Given the description of an element on the screen output the (x, y) to click on. 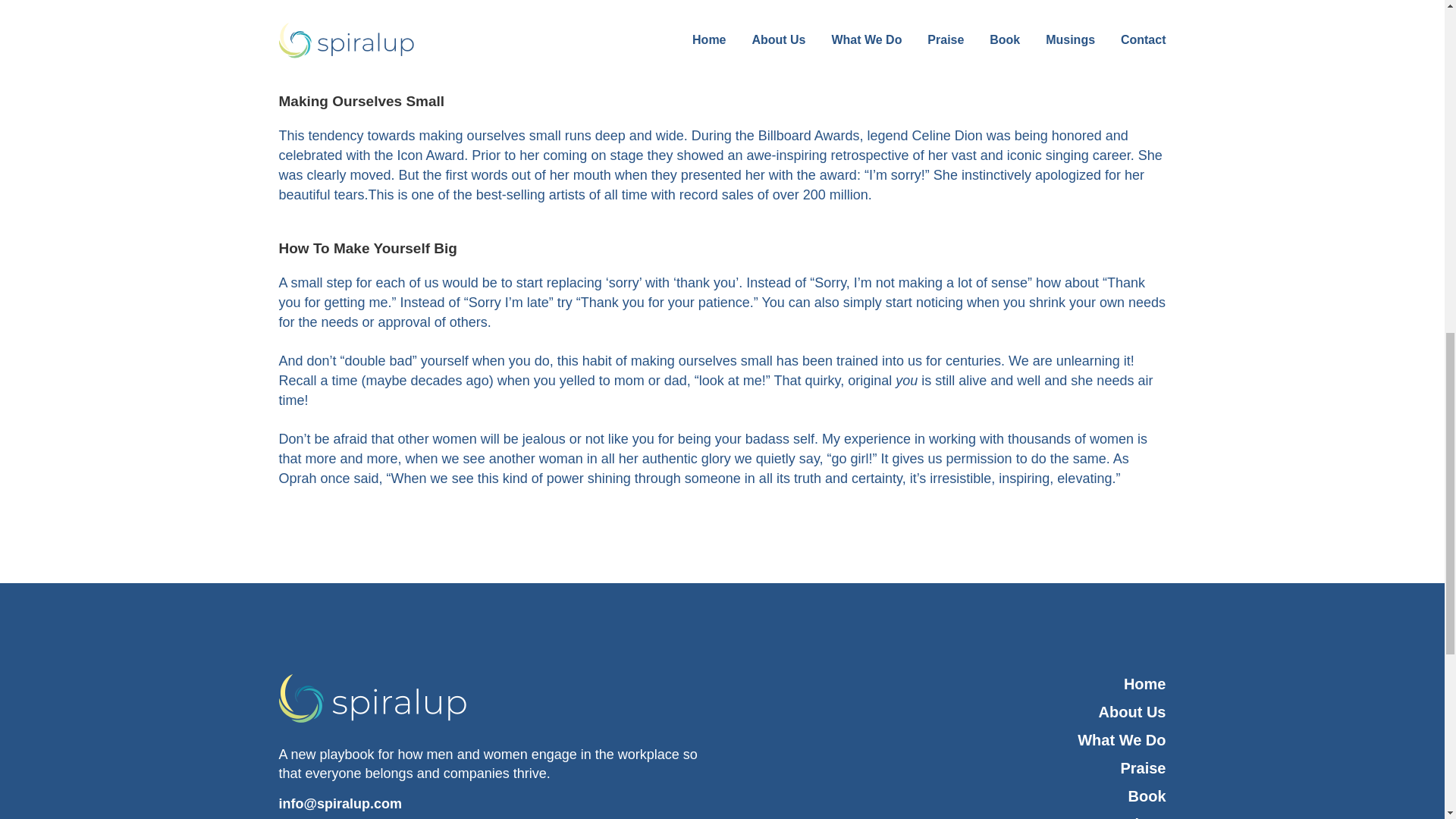
What We Do (949, 740)
Book (949, 796)
About Us (949, 711)
Praise (949, 768)
Musings (949, 816)
Home (949, 684)
